Given the description of an element on the screen output the (x, y) to click on. 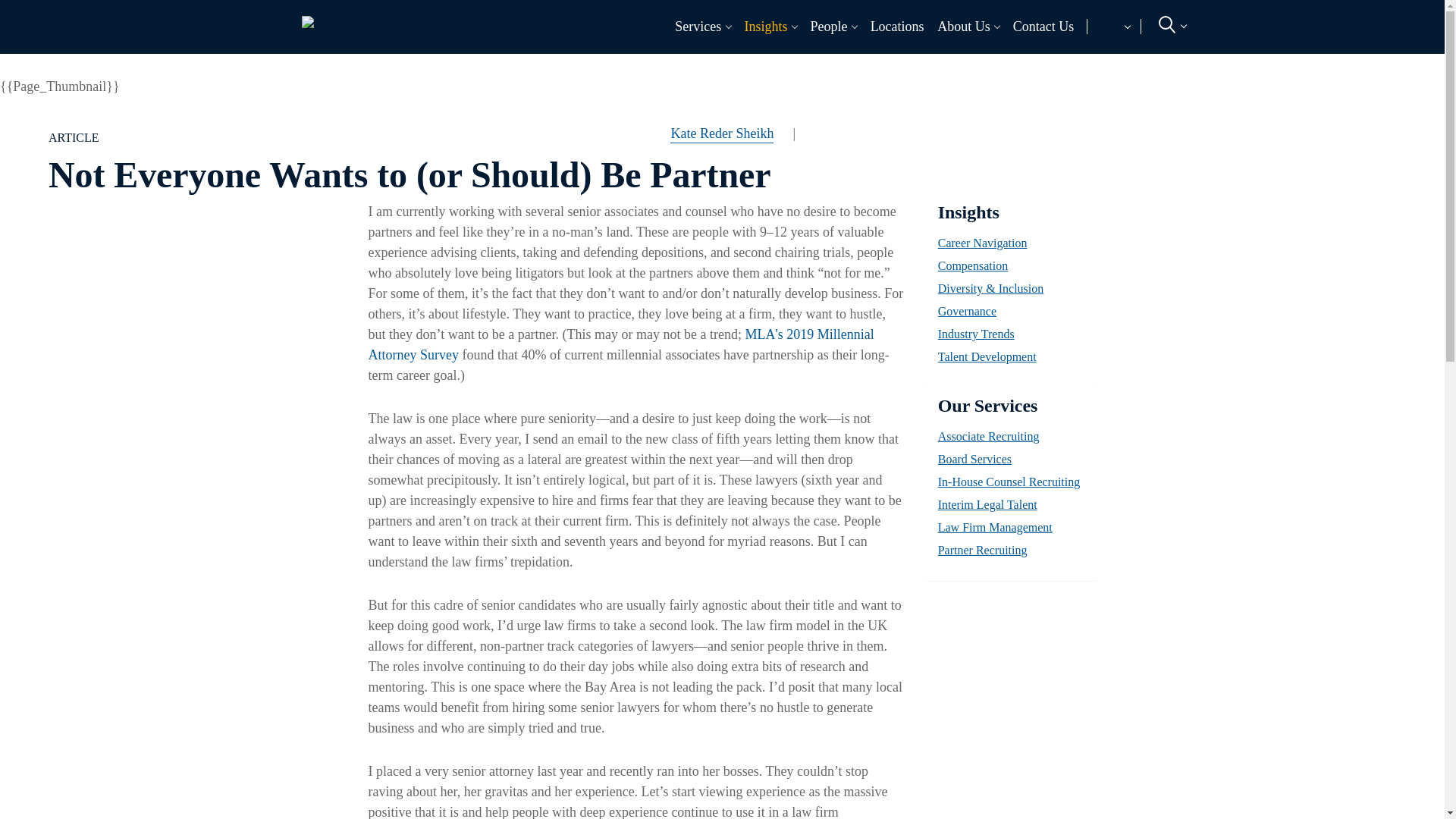
About Us (960, 26)
Contact Us (1043, 26)
In-House Counsel Recruiting (1046, 60)
Home (306, 18)
Board Services (614, 60)
Services (695, 26)
Associate Recruiting (397, 60)
Insights (761, 26)
People (825, 26)
Locations (896, 26)
